Given the description of an element on the screen output the (x, y) to click on. 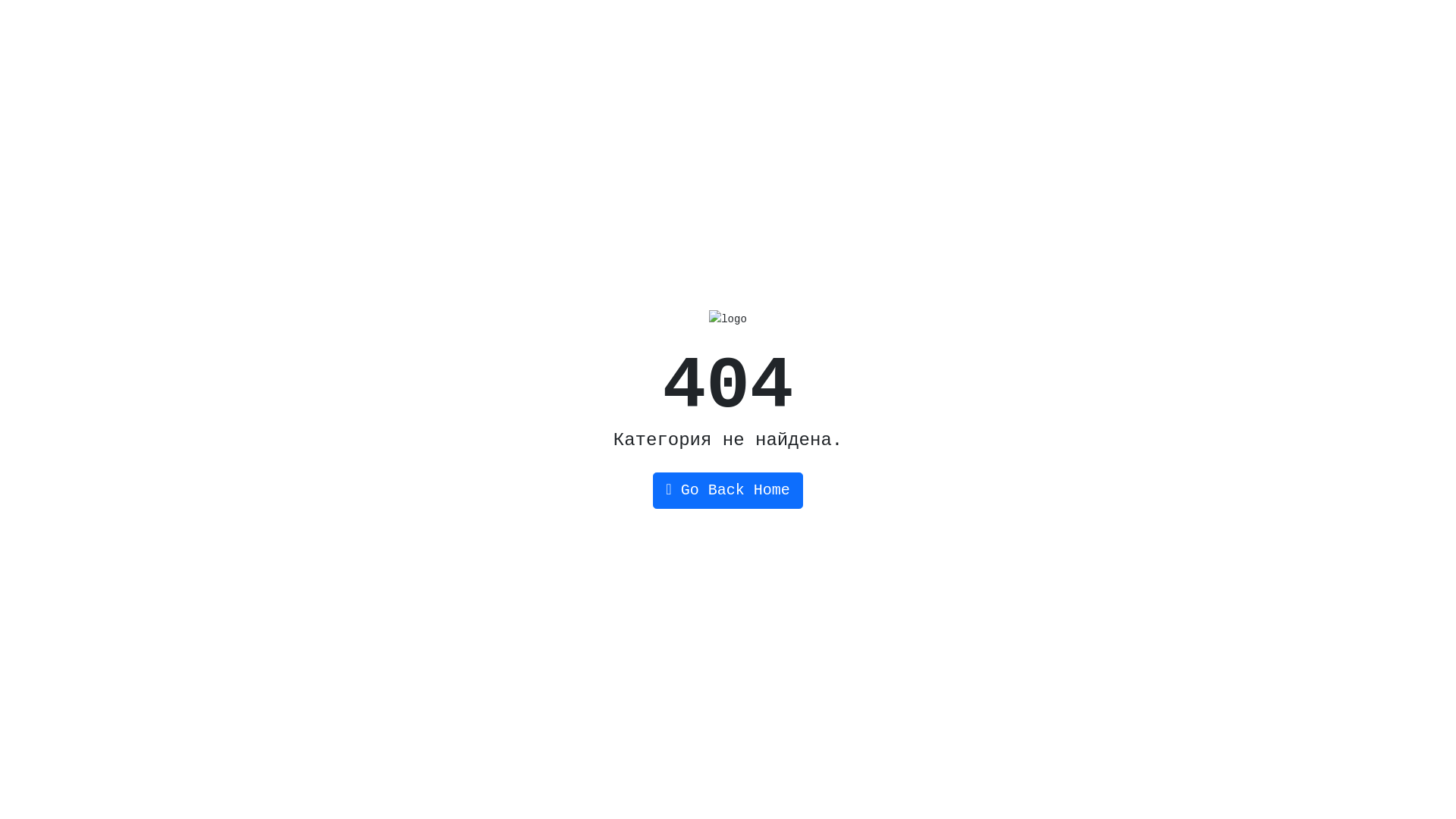
Go Back Home Element type: text (727, 490)
